Given the description of an element on the screen output the (x, y) to click on. 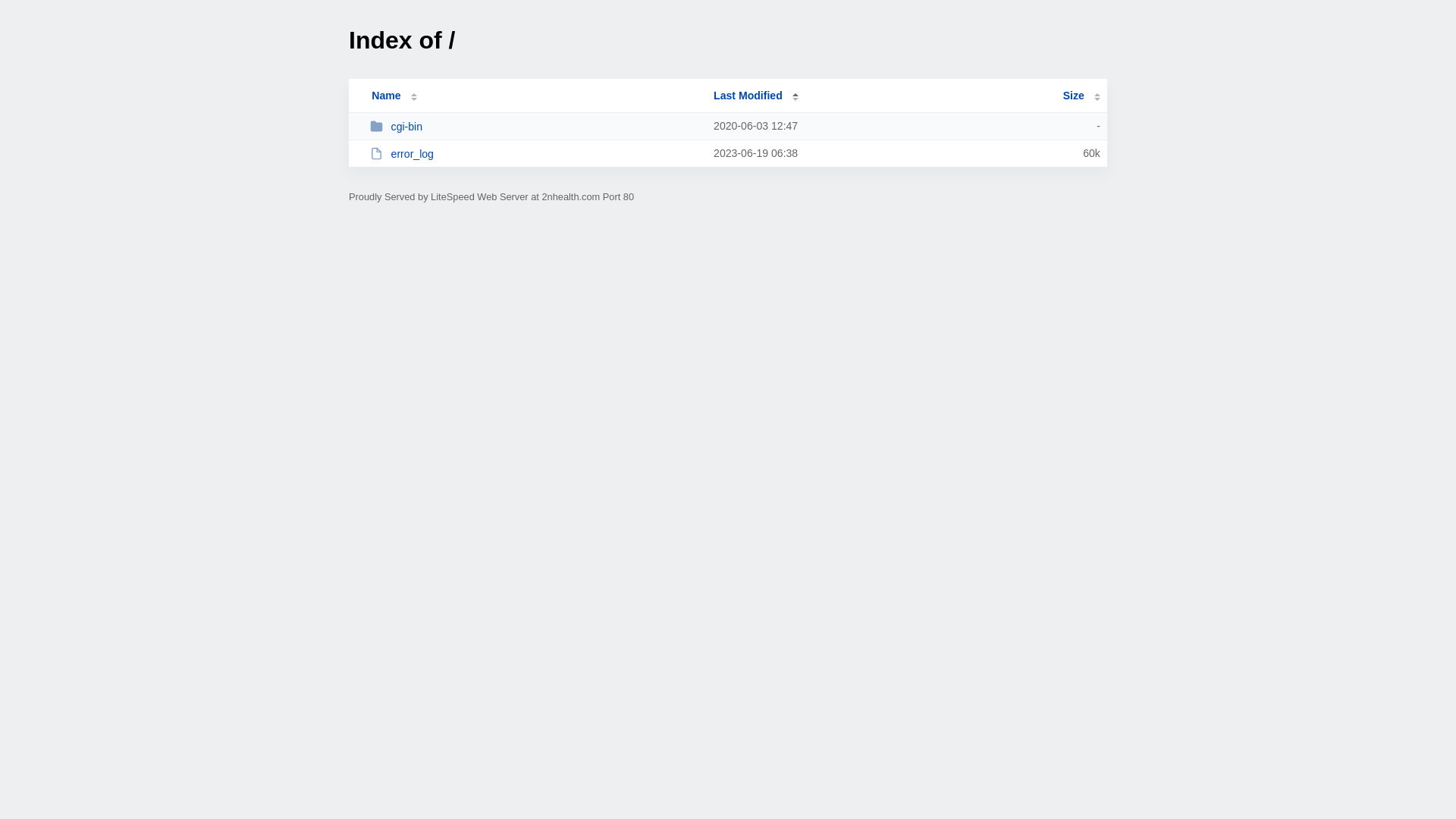
cgi-bin Element type: text (534, 125)
Name Element type: text (385, 95)
Last Modified Element type: text (755, 95)
Size Element type: text (1081, 95)
error_log Element type: text (534, 153)
